Given the description of an element on the screen output the (x, y) to click on. 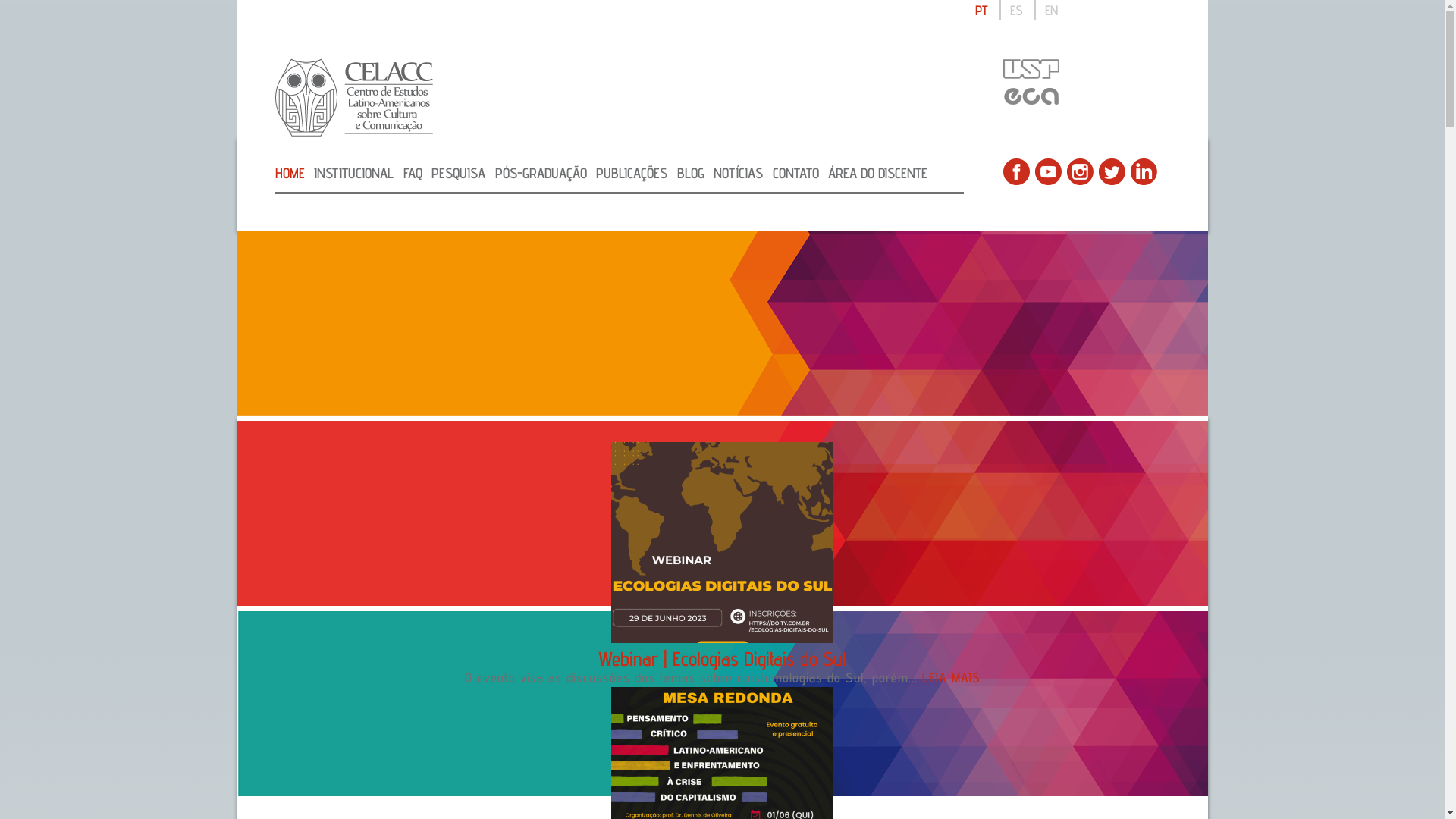
Webinar | Ecologias Digitais do Sul Element type: text (721, 658)
LEIA MAIS Element type: text (951, 677)
FAQ Element type: text (412, 172)
Youtube Element type: text (1047, 171)
Jump to navigation Element type: text (722, 2)
LinkedIn Element type: text (1142, 171)
CONTATO Element type: text (794, 172)
Twitter Element type: text (1111, 171)
PESQUISA Element type: text (458, 172)
ECA Element type: hover (1029, 95)
Facebook Element type: text (1015, 171)
BLOG Element type: text (689, 172)
Instagram Element type: text (1079, 171)
USP Element type: hover (1029, 67)
HOME Element type: text (289, 172)
INSTITUCIONAL Element type: text (353, 172)
